Given the description of an element on the screen output the (x, y) to click on. 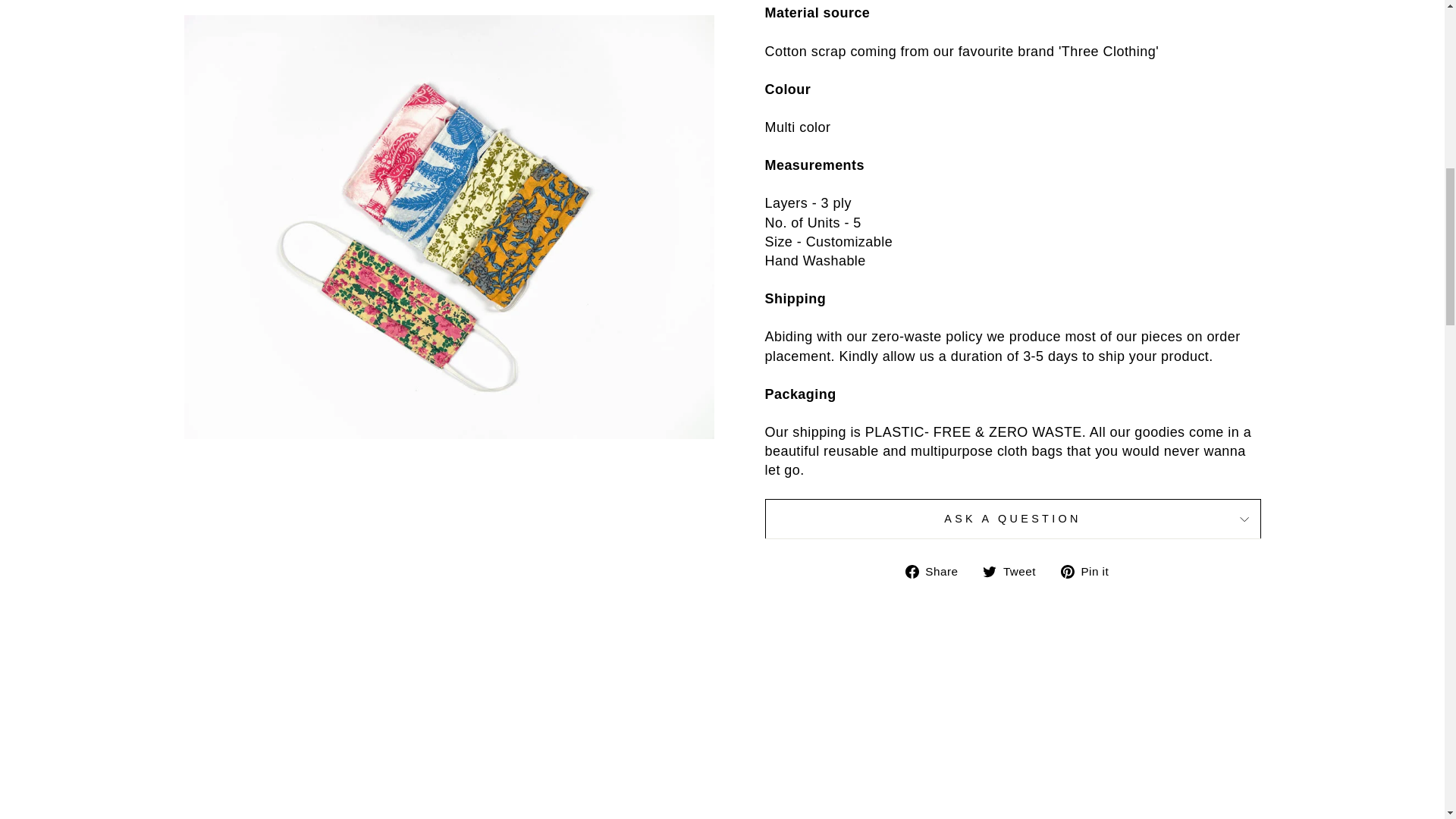
Share on Facebook (937, 570)
twitter (988, 571)
Pin on Pinterest (1090, 570)
Tweet on Twitter (1014, 570)
